Given the description of an element on the screen output the (x, y) to click on. 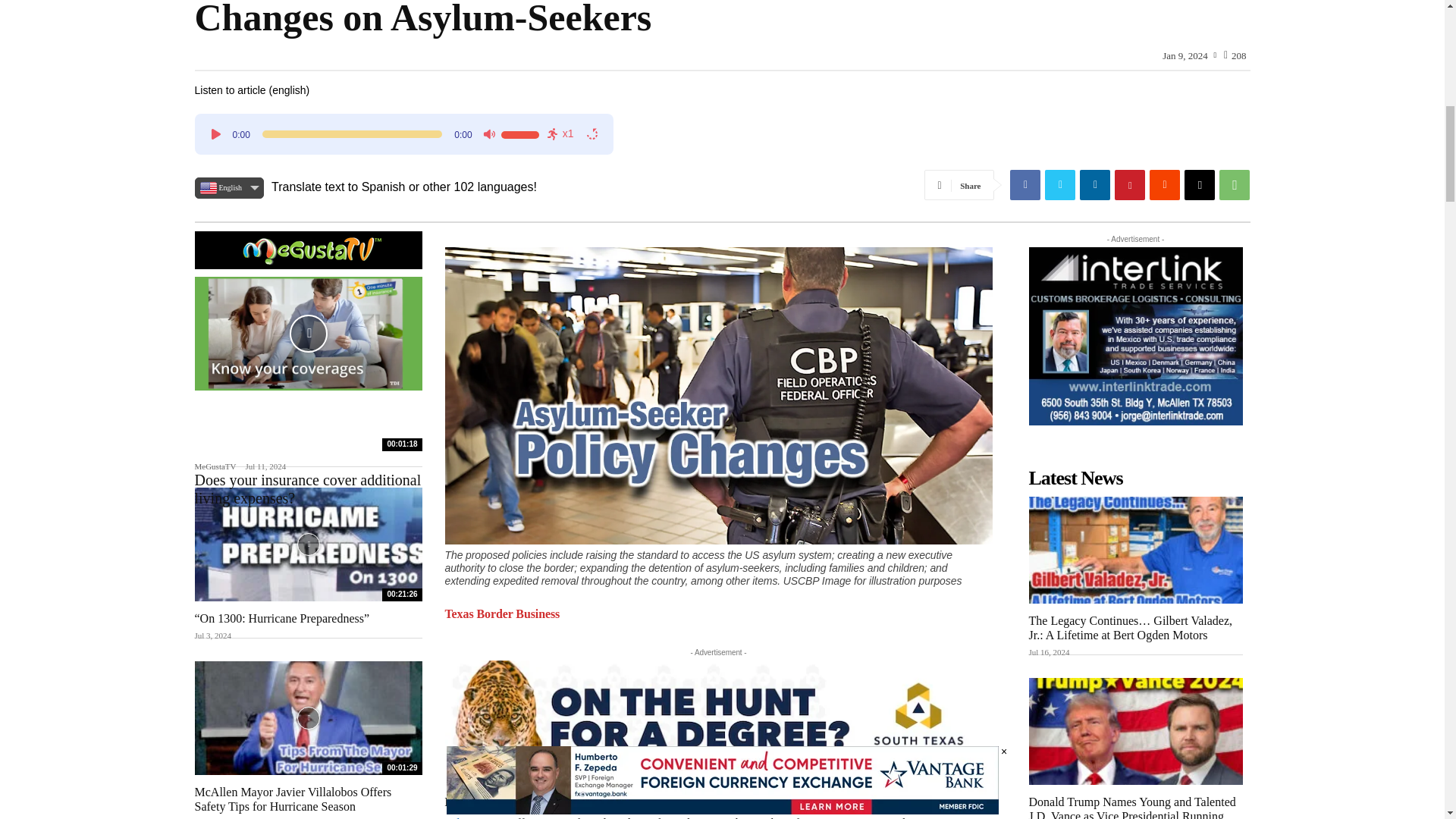
English (228, 188)
